Given the description of an element on the screen output the (x, y) to click on. 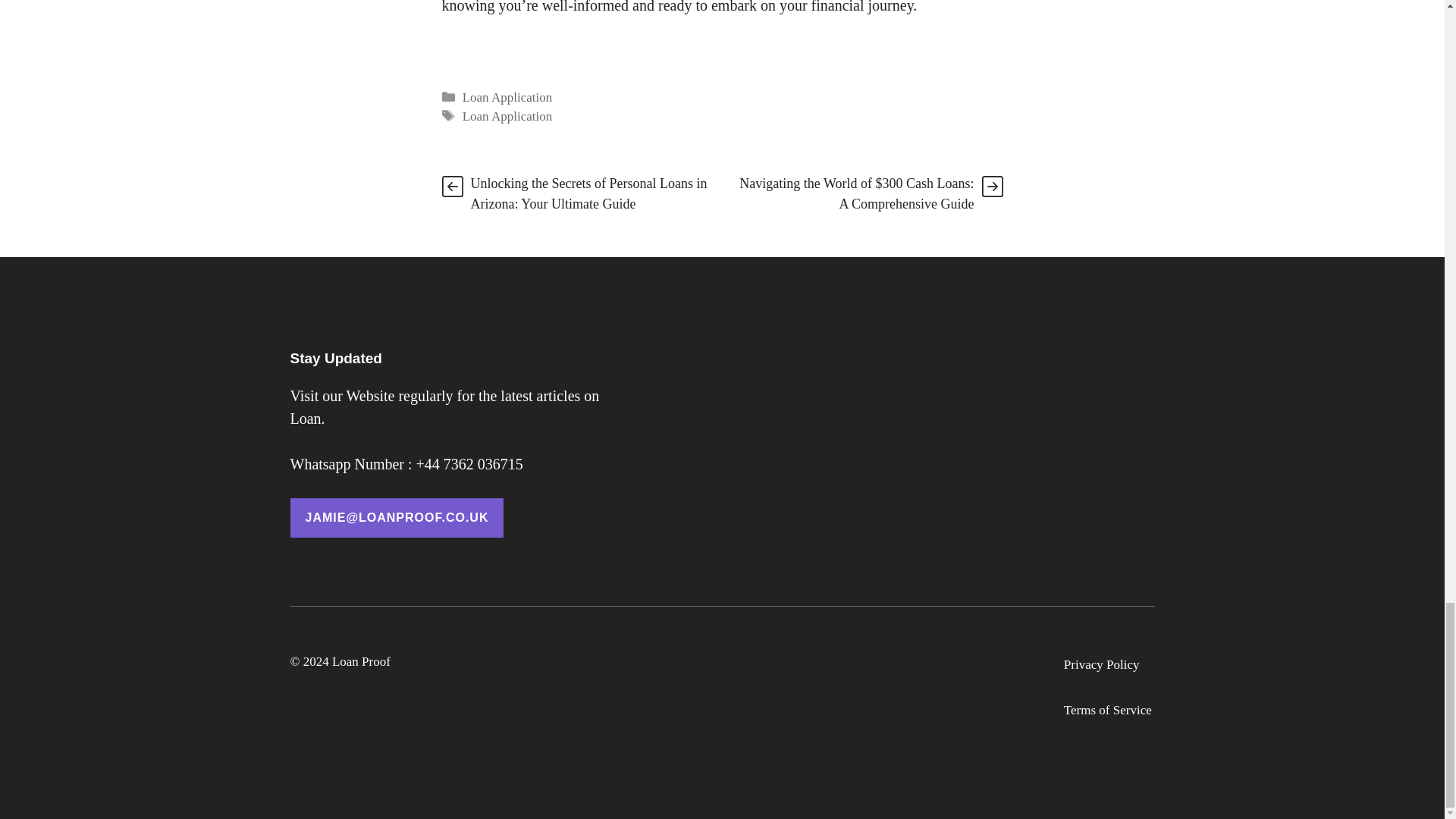
Loan Application (508, 115)
Terms of Service (1107, 710)
Loan Application (508, 97)
Privacy Policy (1102, 664)
